Given the description of an element on the screen output the (x, y) to click on. 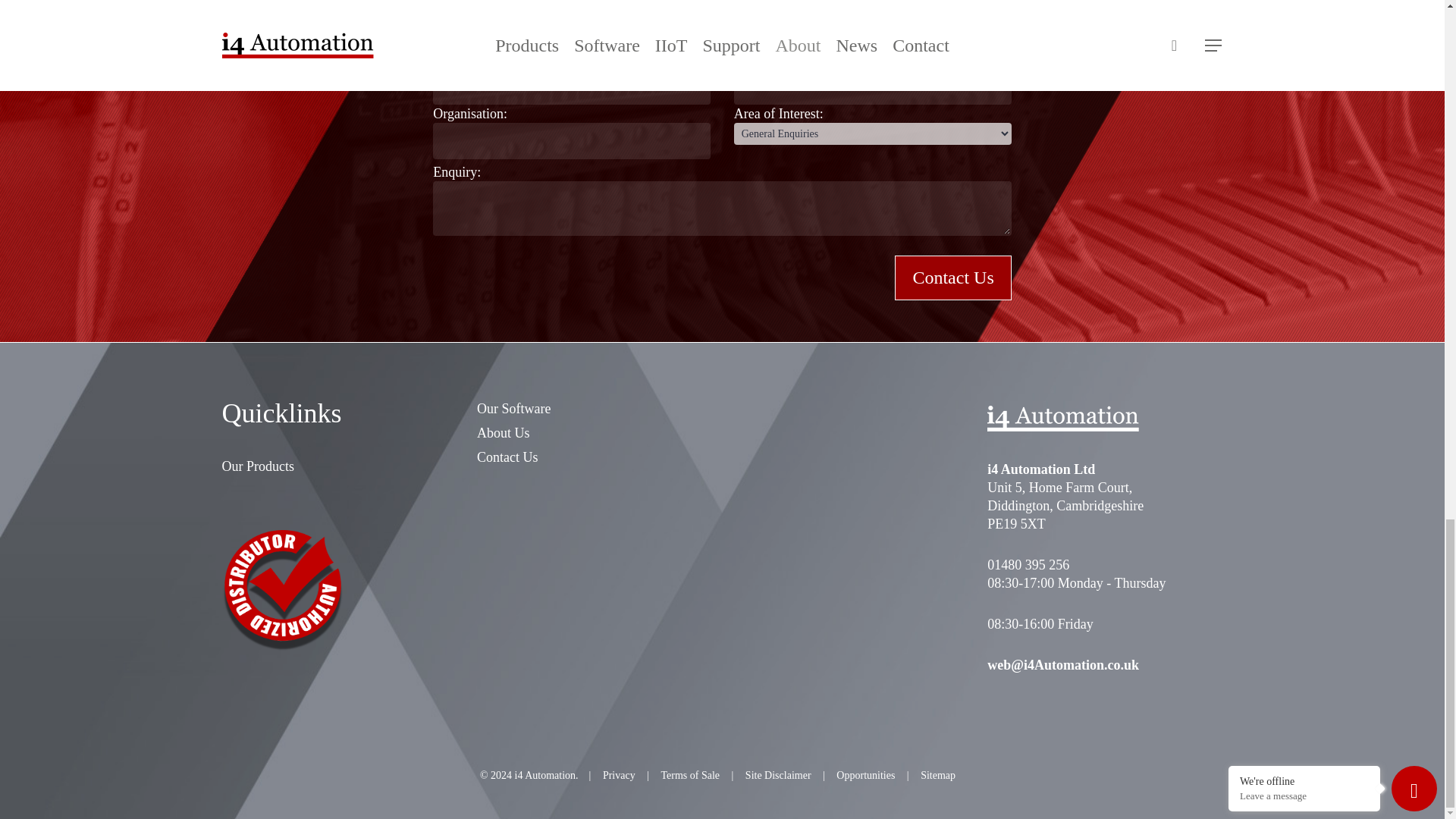
Contact Us (952, 277)
